Given the description of an element on the screen output the (x, y) to click on. 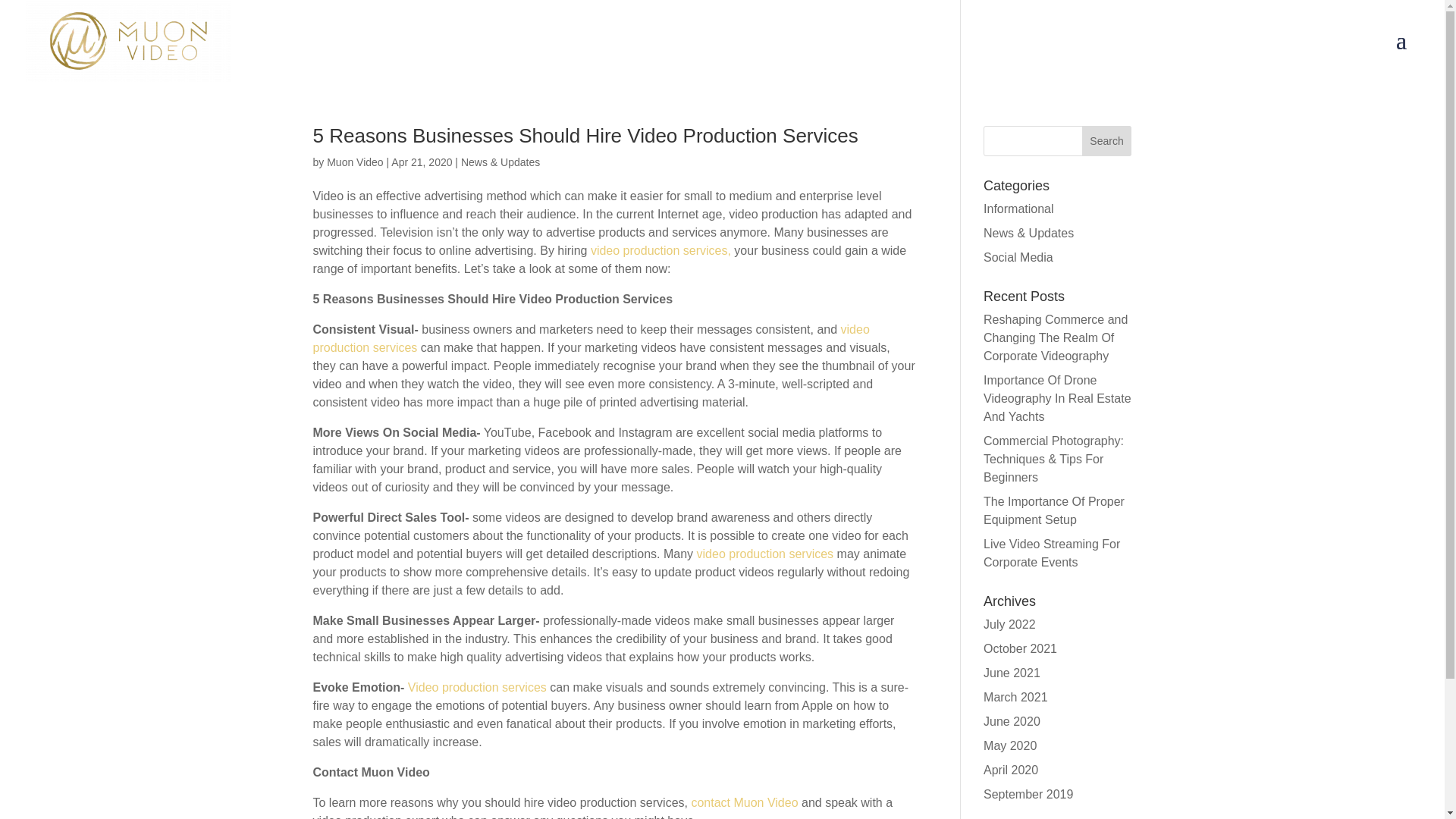
5 Reasons Businesses Should Hire Video Production Services (585, 135)
Muon Video (354, 162)
Video production services (477, 686)
June 2020 (1012, 721)
video production services, (660, 250)
video production services (591, 337)
Search (1106, 141)
April 2020 (1011, 769)
March 2021 (1016, 697)
June 2021 (1012, 672)
July 2022 (1009, 624)
contact Muon Video (743, 802)
video production services (765, 553)
Posts by Muon Video (354, 162)
